Given the description of an element on the screen output the (x, y) to click on. 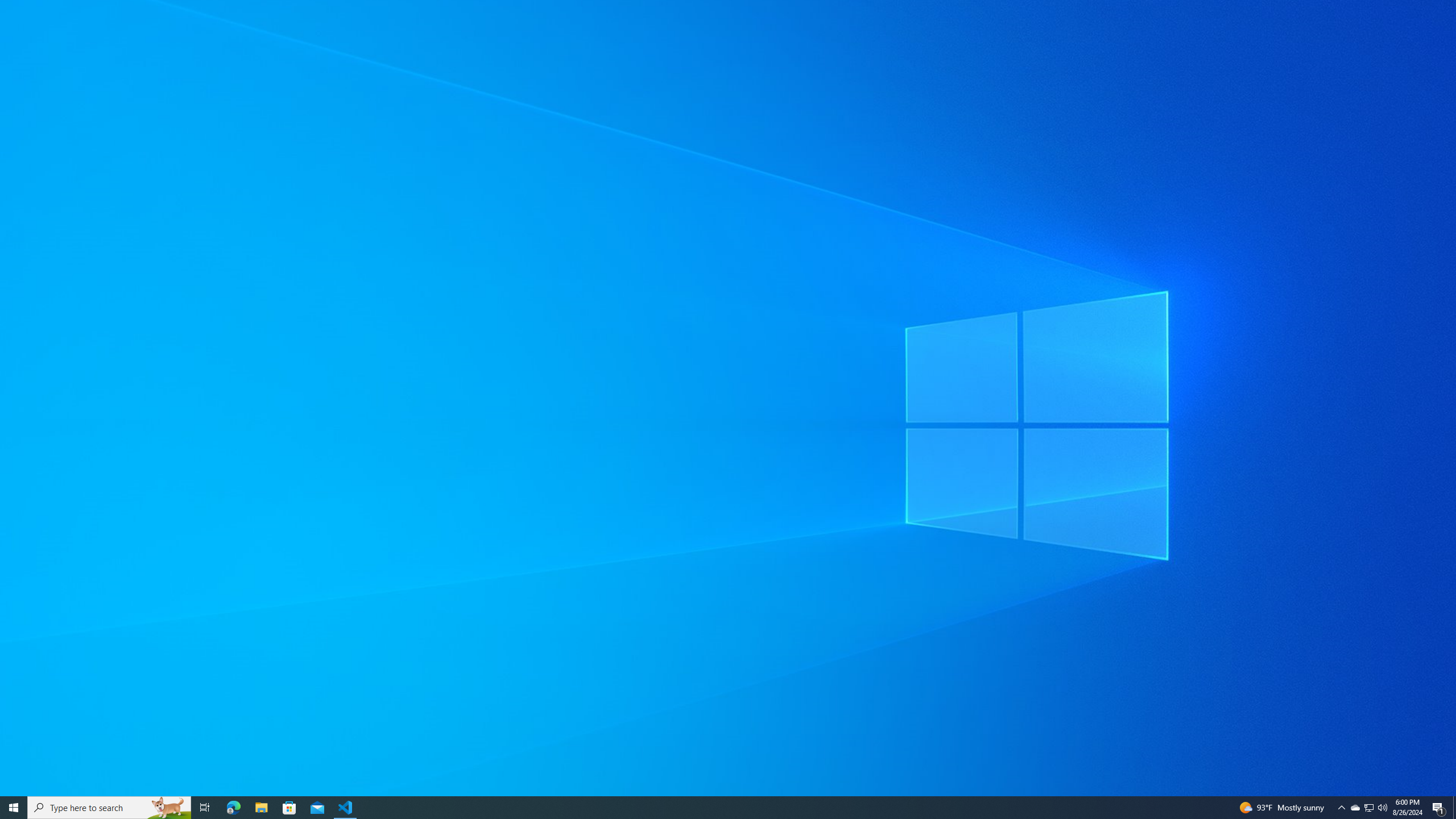
Start (13, 807)
Microsoft Store (289, 807)
Running applications (1355, 807)
